Given the description of an element on the screen output the (x, y) to click on. 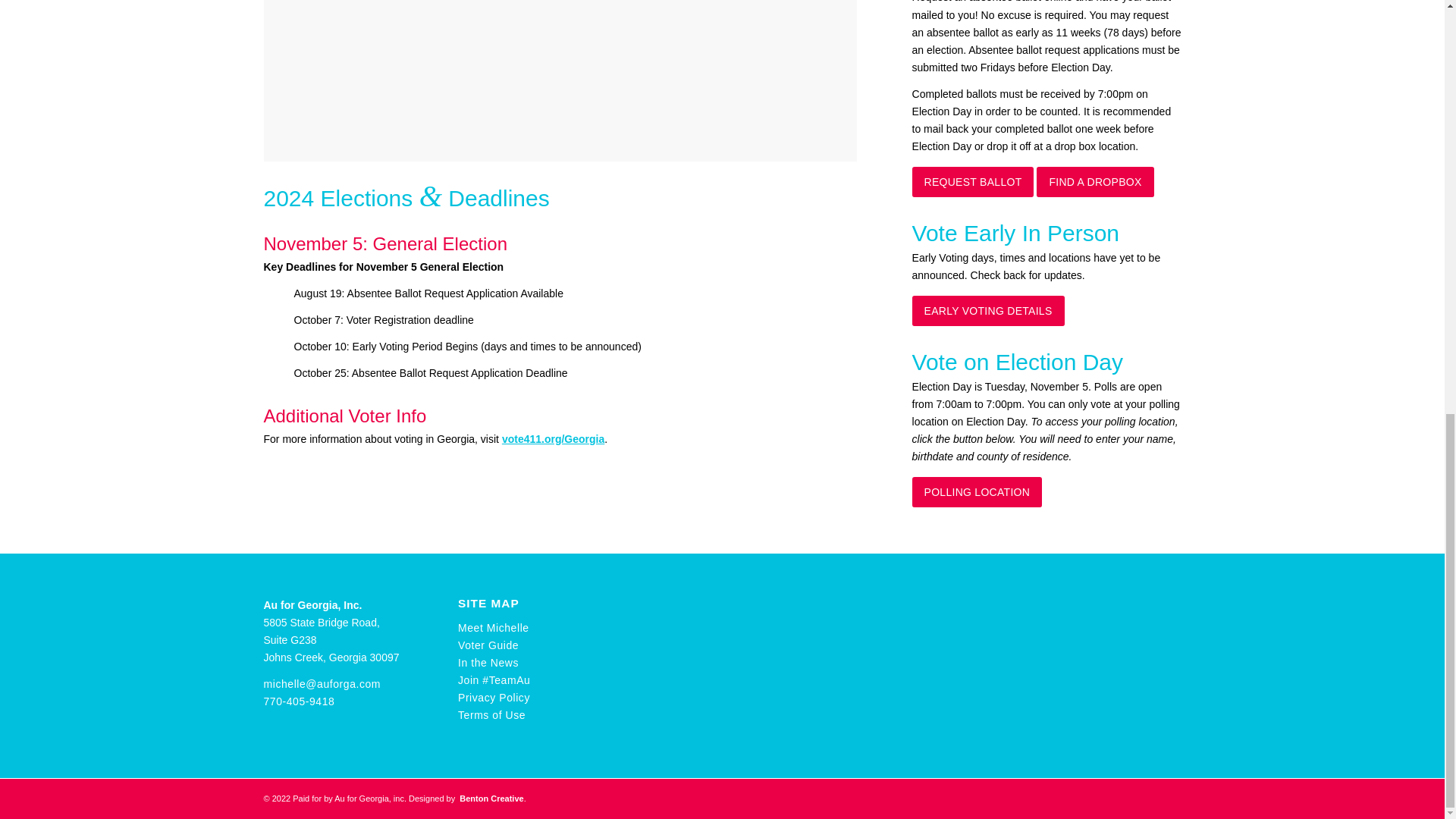
EARLY VOTING DETAILS (988, 310)
770-405-9418 (298, 701)
2023 House District 50 (560, 80)
Meet Michelle (493, 627)
REQUEST BALLOT (972, 182)
FIND A DROPBOX (1094, 182)
POLLING LOCATION (977, 491)
Voter Guide (488, 645)
In the News (488, 662)
Privacy Policy (493, 697)
